Given the description of an element on the screen output the (x, y) to click on. 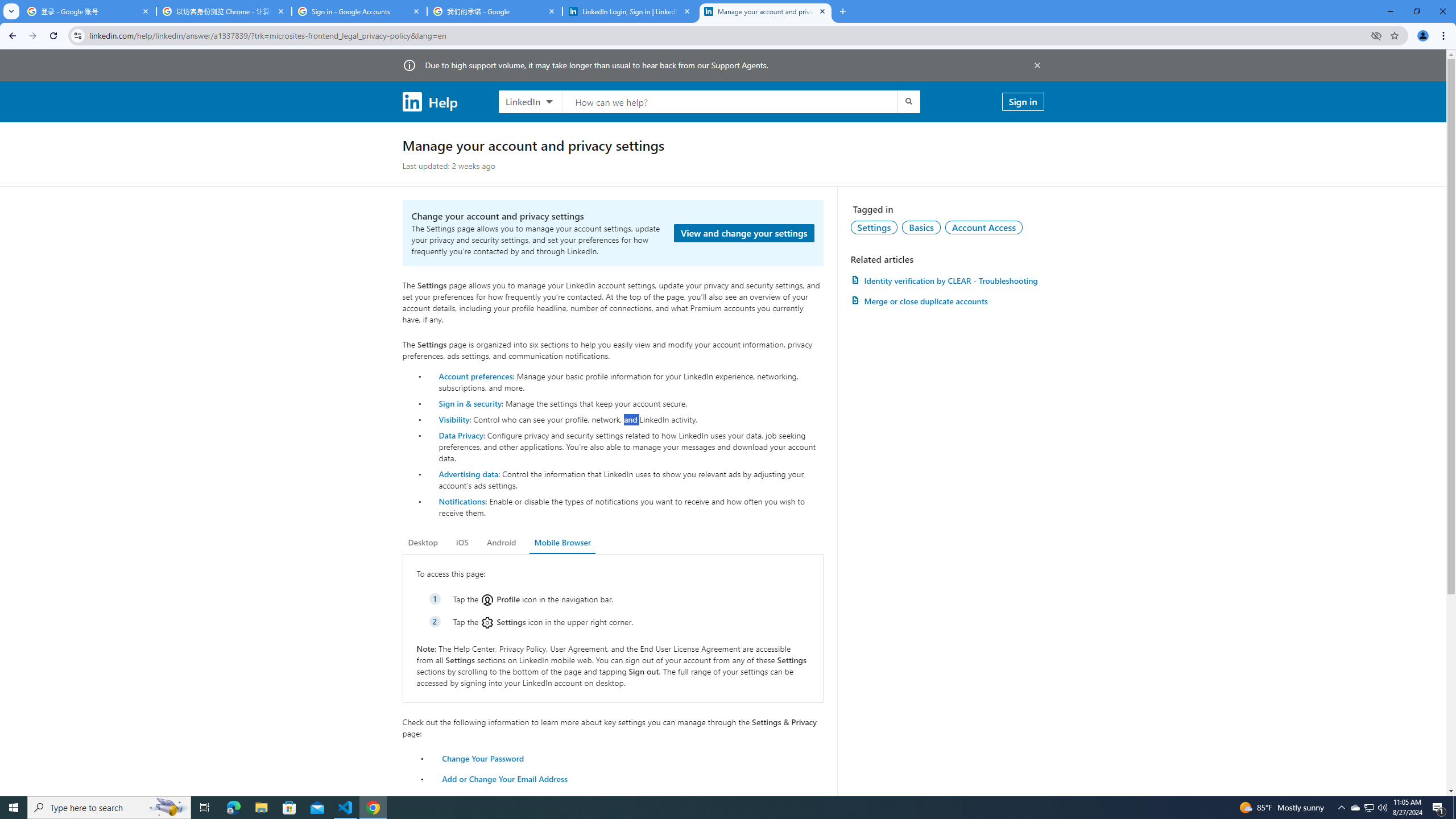
Merge or close duplicate accounts (946, 300)
Basics (921, 227)
Sign in - Google Accounts (359, 11)
Manage your account and privacy settings | LinkedIn Help (765, 11)
AutomationID: topic-link-a51 (921, 227)
iOS (462, 542)
Desktop (422, 542)
Mobile Browser (562, 542)
